Given the description of an element on the screen output the (x, y) to click on. 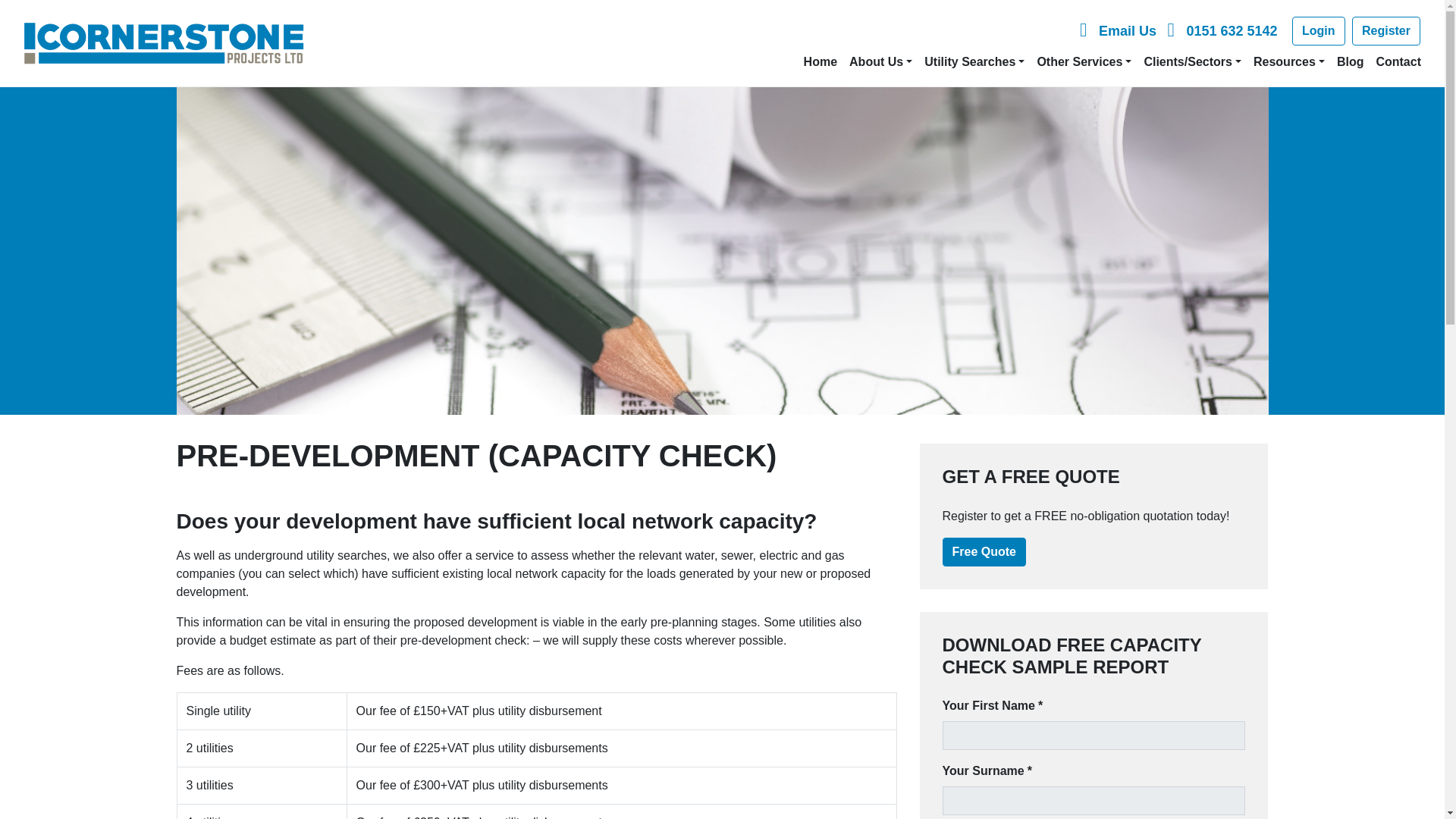
Cornerstone Projects Ltd (163, 43)
Utility Searches (974, 62)
About Us (880, 62)
Resources (1288, 62)
Home (820, 62)
Other Services (1083, 62)
Cornerstone Projects Ltd (163, 43)
